Given the description of an element on the screen output the (x, y) to click on. 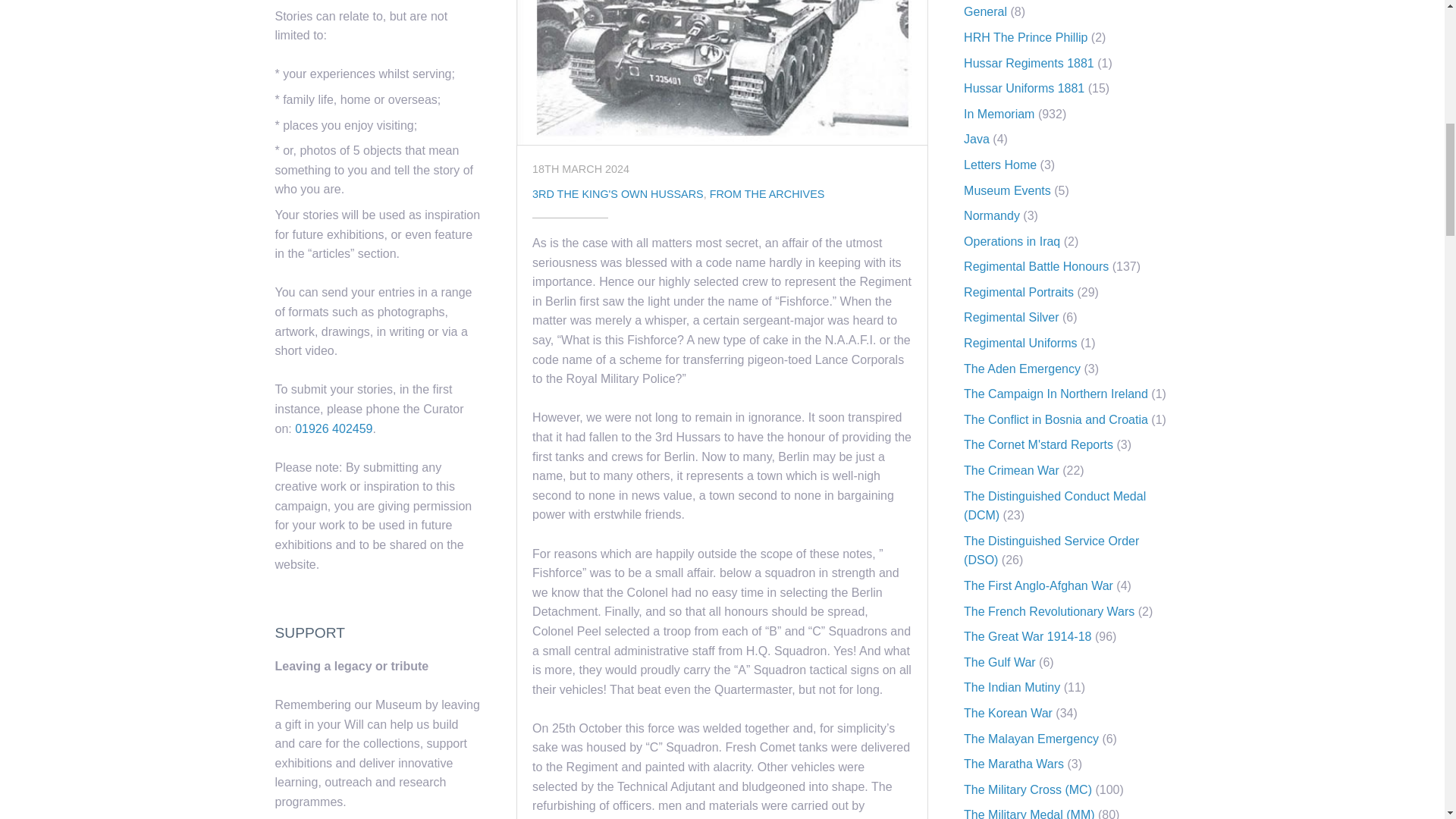
3RD THE KING'S OWN HUSSARS (617, 193)
01926 402459 (333, 428)
FROM THE ARCHIVES (767, 193)
